Given the description of an element on the screen output the (x, y) to click on. 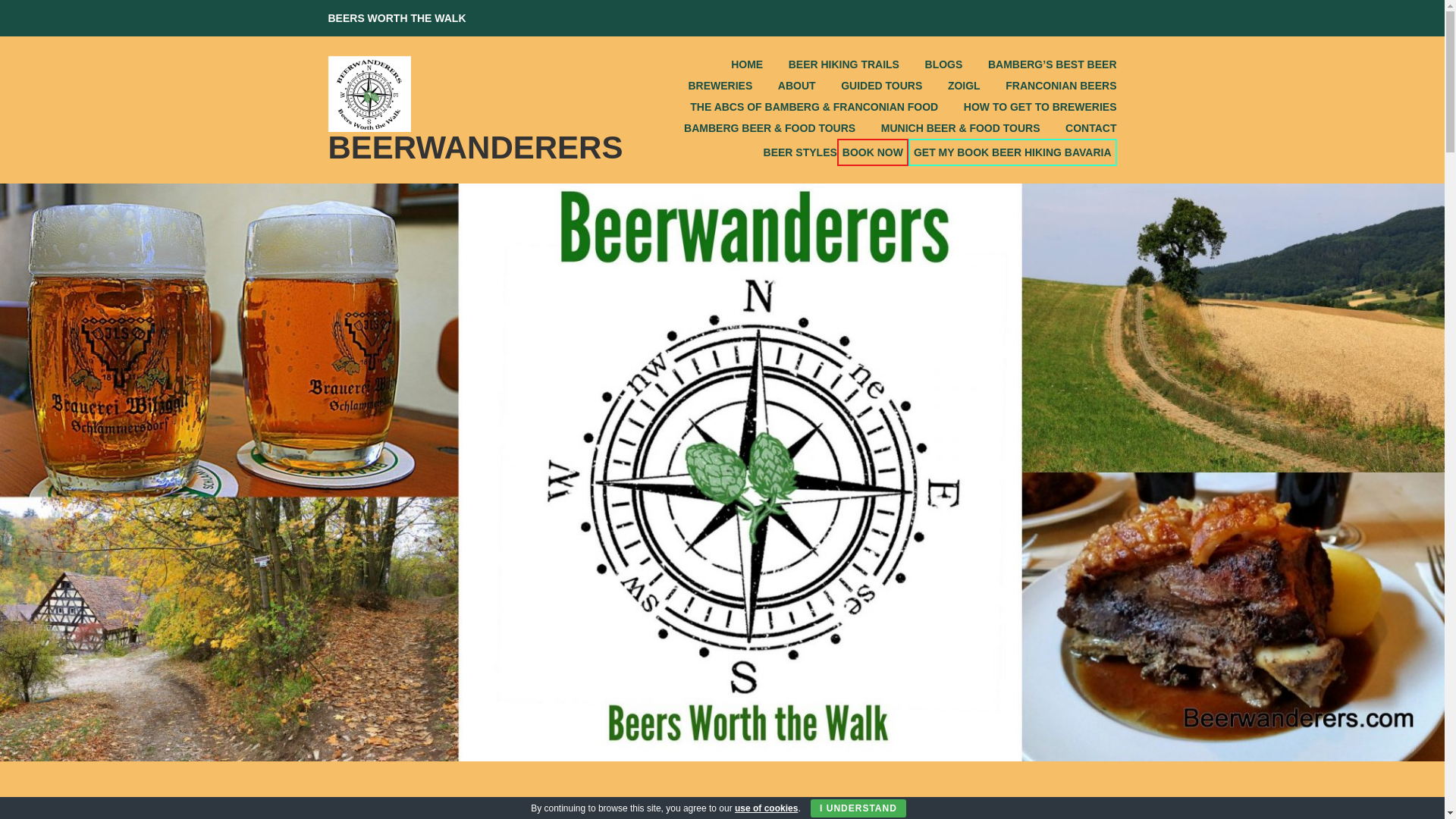
ABOUT (783, 85)
BEER STYLES (787, 151)
BEERWANDERERS (475, 147)
HOME (734, 64)
BOOK NOW (872, 152)
ZOIGL (950, 85)
BEER HIKING TRAILS (830, 64)
GUIDED TOURS (869, 85)
FRANCONIAN BEERS (1047, 85)
HOW TO GET TO BREWERIES (1026, 106)
